Given the description of an element on the screen output the (x, y) to click on. 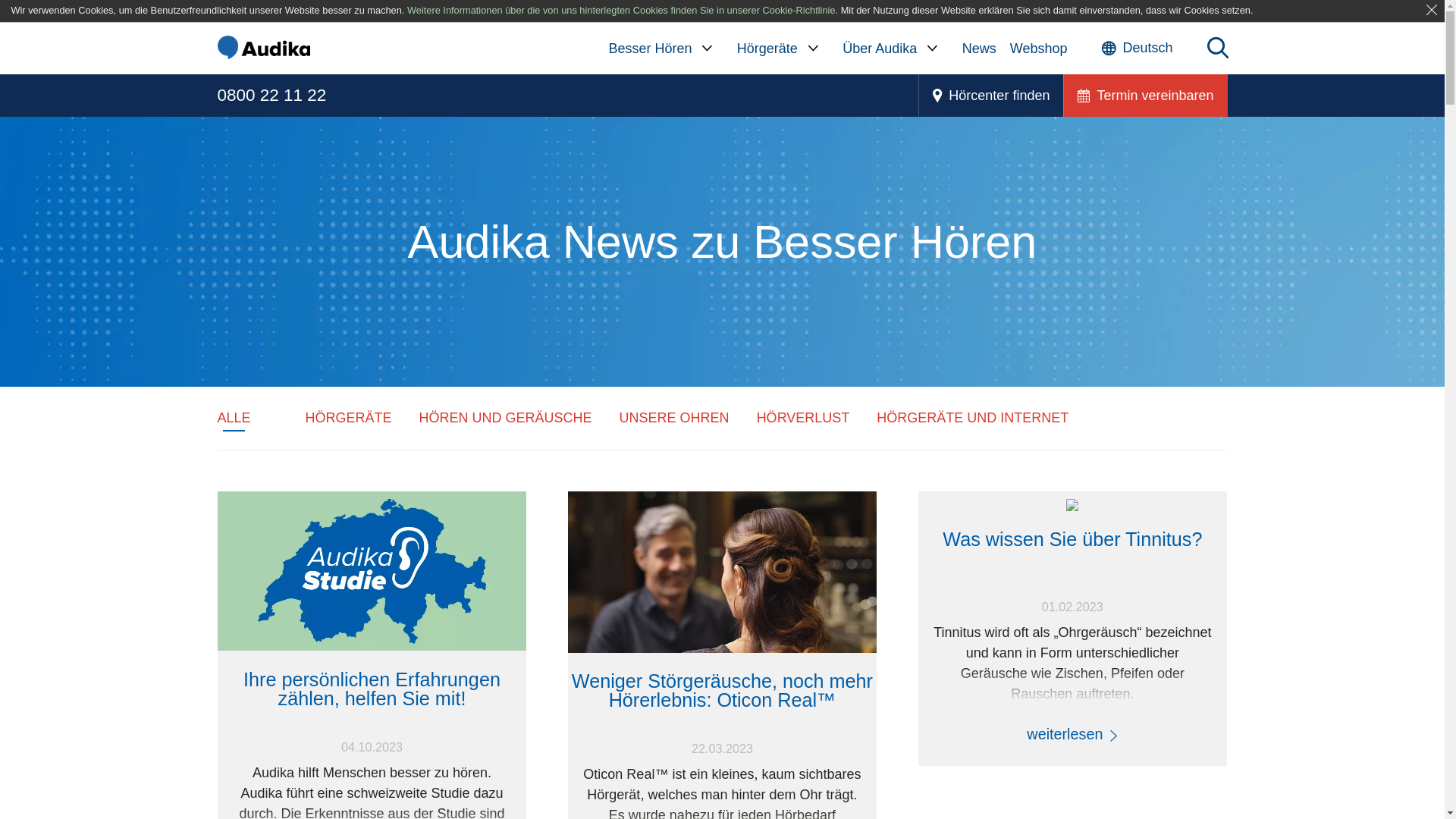
News Element type: text (979, 48)
UNSERE OHREN Element type: text (674, 417)
drop Element type: text (812, 48)
ALLE Element type: text (233, 417)
Termin vereinbaren Element type: text (1144, 95)
search Element type: text (1217, 48)
drop Element type: text (706, 48)
drop Element type: text (931, 48)
0800 22 11 22 Element type: text (277, 95)
Webshop Element type: text (1038, 48)
Deutsch Element type: text (1136, 48)
